Given the description of an element on the screen output the (x, y) to click on. 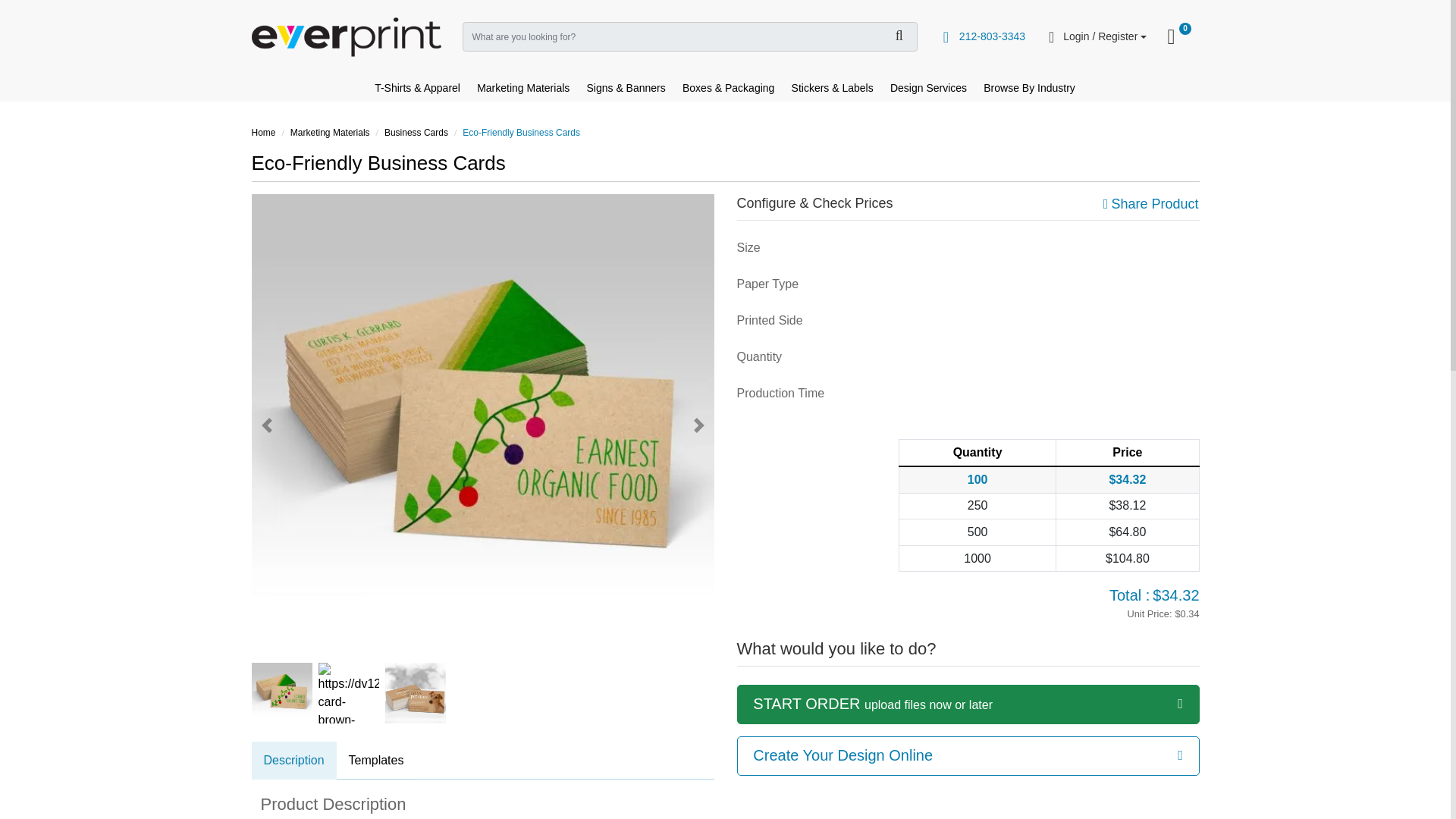
212-803-3343 (983, 37)
call:0123.456.789 (1180, 36)
